Given the description of an element on the screen output the (x, y) to click on. 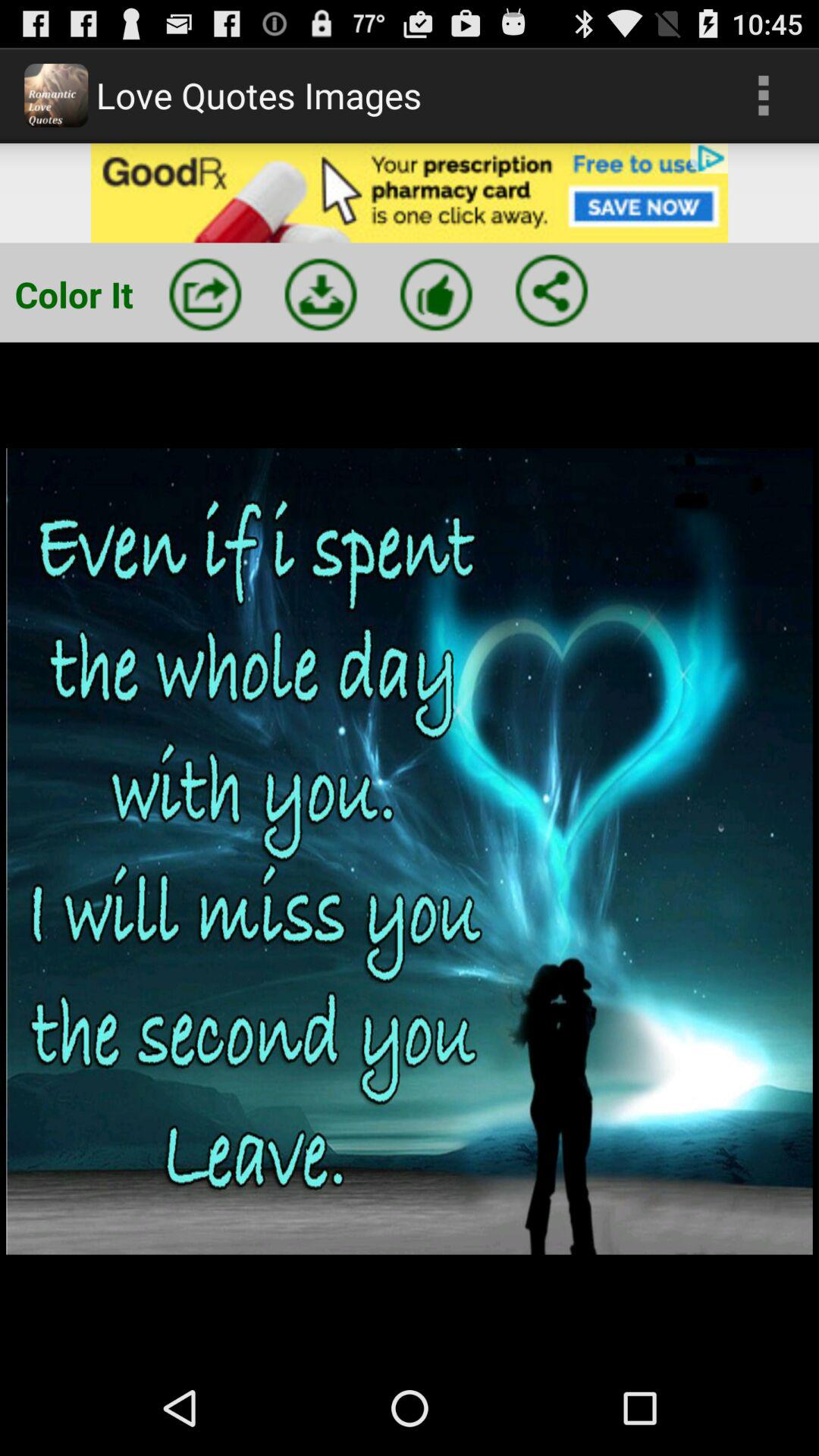
advertisement link to different site (409, 192)
